Given the description of an element on the screen output the (x, y) to click on. 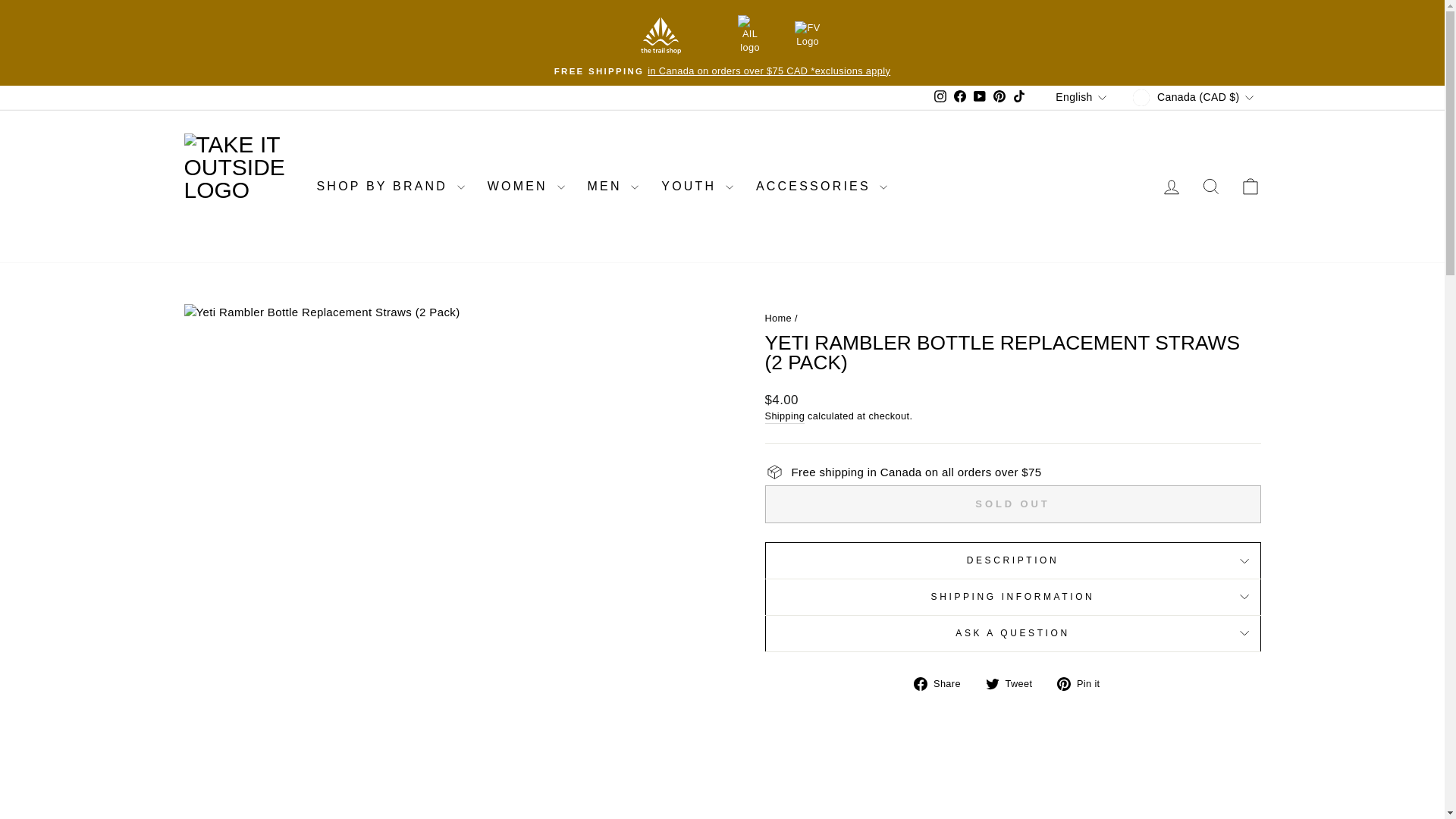
Take It Outside on Instagram (940, 97)
ACCOUNT (1170, 187)
Tweet on Twitter (1014, 682)
Pin on Pinterest (1083, 682)
Take It Outside on YouTube (979, 97)
Take It Outside on TikTok (1019, 97)
ICON-BAG-MINIMAL (1249, 186)
instagram (940, 96)
Back to the frontpage (778, 317)
Take It Outside on Pinterest (999, 97)
